Given the description of an element on the screen output the (x, y) to click on. 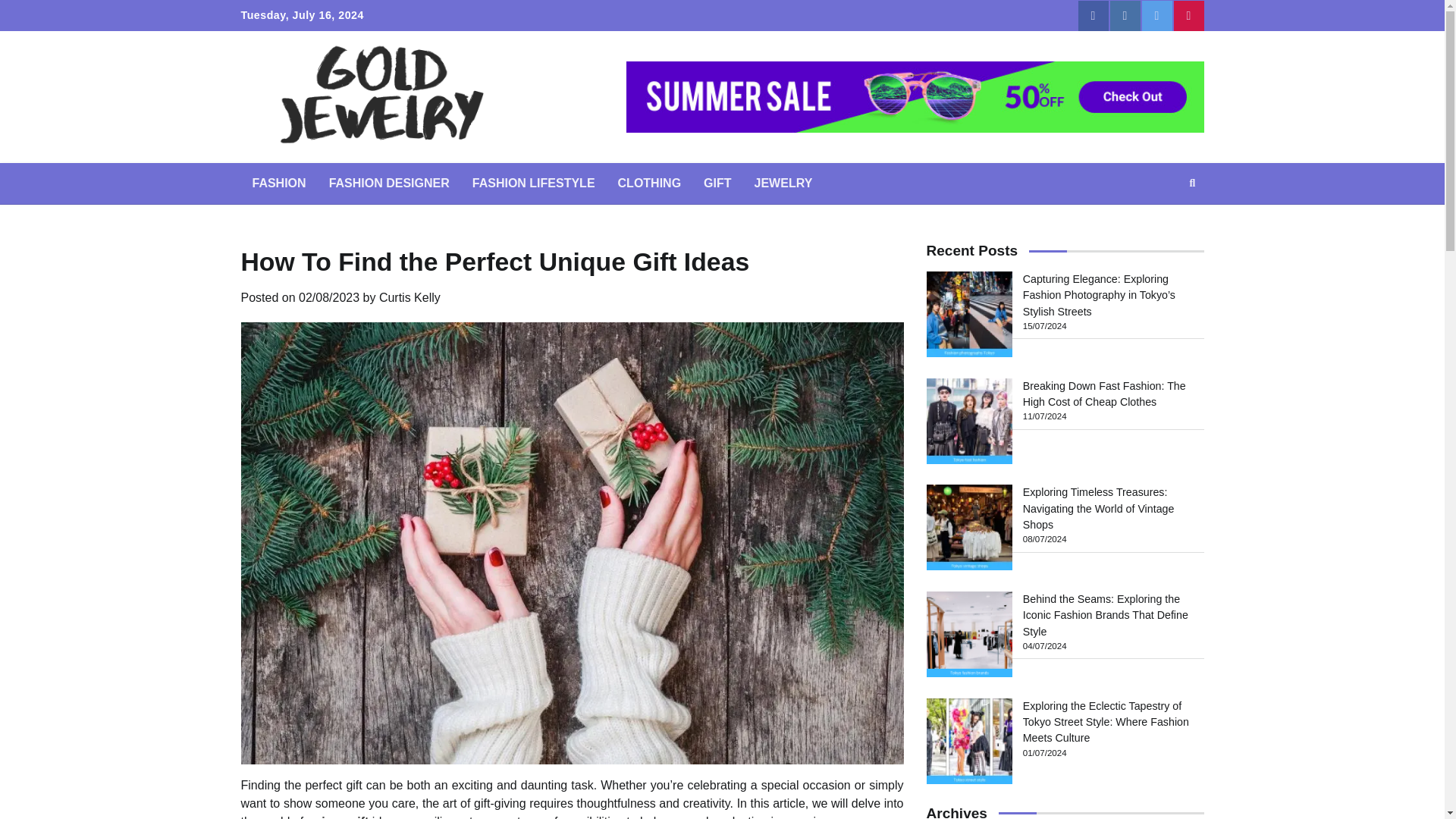
FASHION (279, 182)
Search (1164, 218)
fashion photography (968, 314)
Pinterest (1188, 15)
CLOTHING (650, 182)
fashion brands (968, 634)
unique gift (338, 816)
fast fashion (968, 421)
vintage shops (968, 527)
FASHION DESIGNER (389, 182)
Curtis Kelly (409, 297)
Breaking Down Fast Fashion: The High Cost of Cheap Clothes (1104, 393)
